Given the description of an element on the screen output the (x, y) to click on. 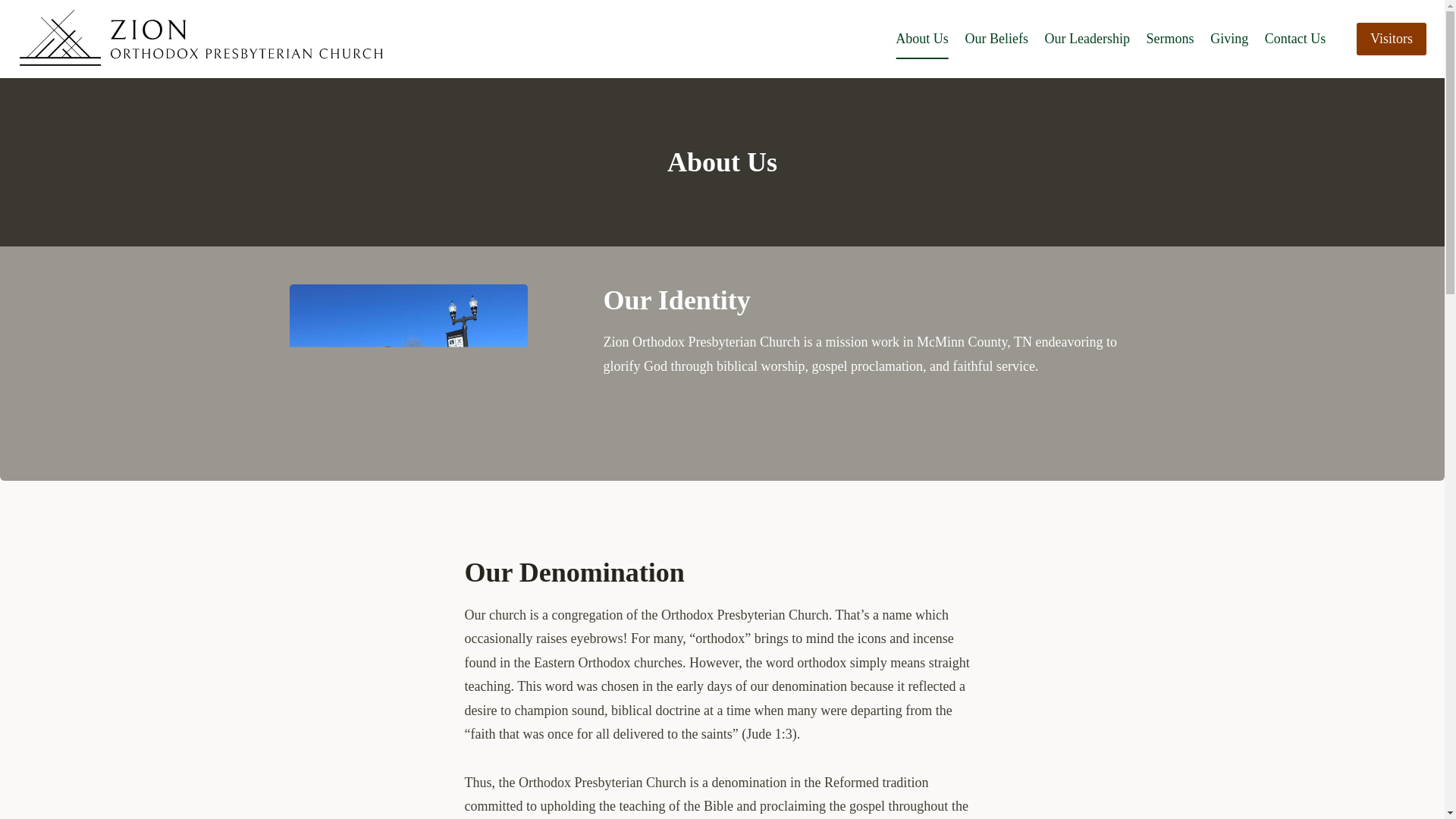
Contact Us (1294, 38)
Our Beliefs (996, 38)
Visitors (1391, 38)
About Us (922, 38)
Sermons (1170, 38)
Giving (1229, 38)
Our Leadership (1087, 38)
